Given the description of an element on the screen output the (x, y) to click on. 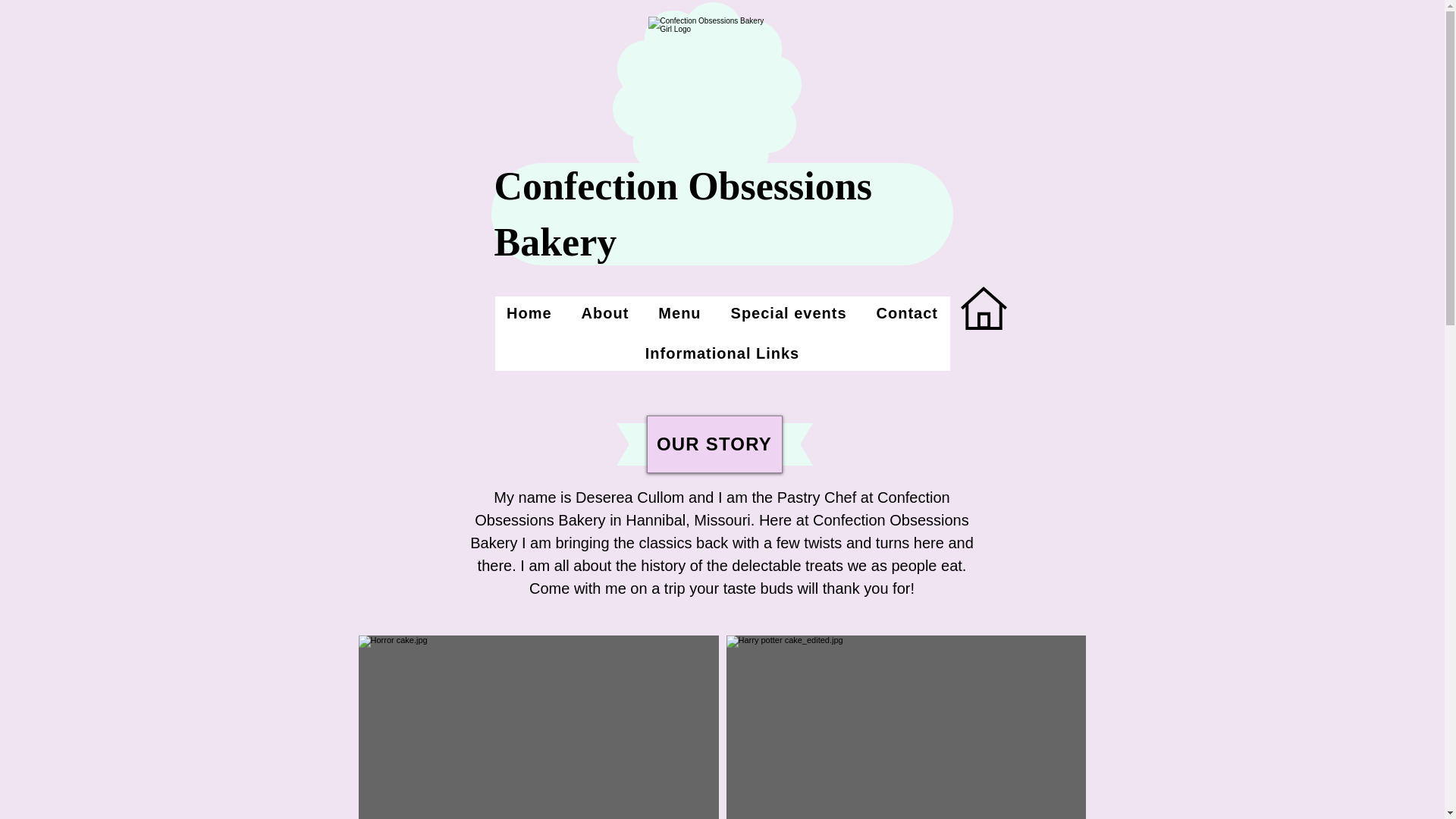
Special events (789, 313)
Informational Links (722, 353)
Home (529, 313)
Contact (906, 313)
About (604, 313)
Menu (679, 313)
